Given the description of an element on the screen output the (x, y) to click on. 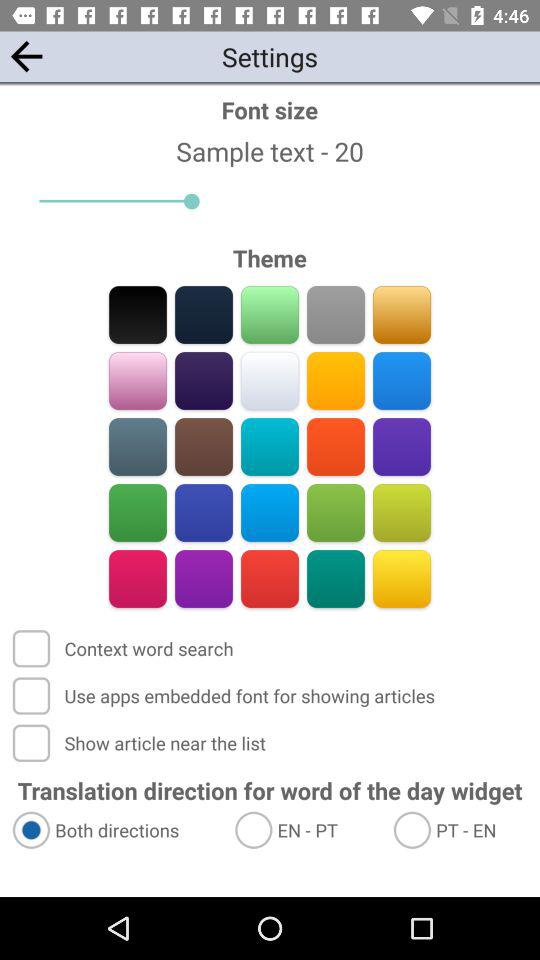
select dark blue color (203, 512)
